Given the description of an element on the screen output the (x, y) to click on. 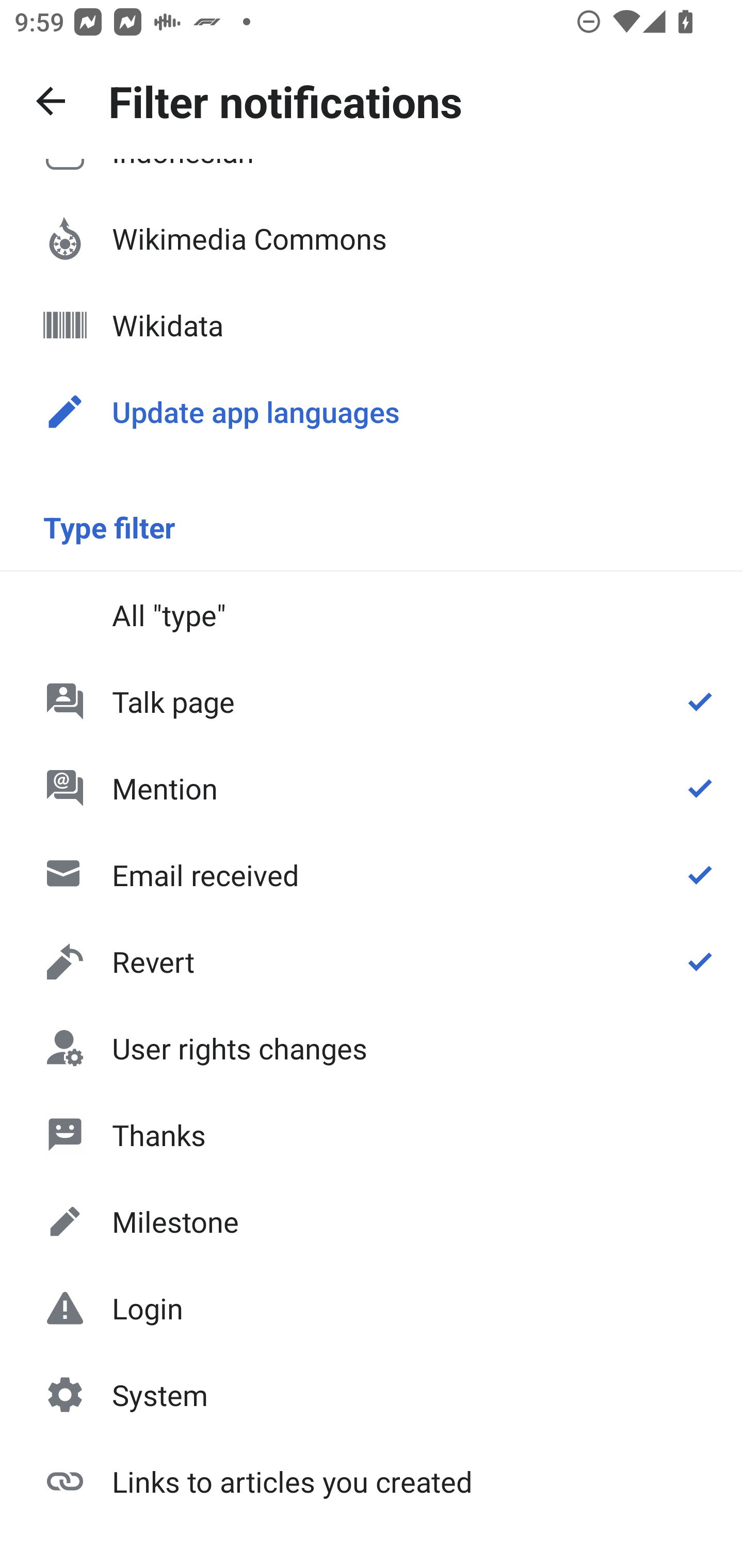
Navigate up (50, 101)
Wikimedia Commons (371, 238)
Wikidata (371, 325)
Update app languages (371, 411)
All "type" (371, 614)
Talk page (371, 701)
Mention (371, 787)
Email received (371, 874)
Revert (371, 961)
User rights changes (371, 1048)
Thanks (371, 1134)
Milestone (371, 1221)
Login (371, 1308)
System (371, 1394)
Links to articles you created (371, 1480)
